Given the description of an element on the screen output the (x, y) to click on. 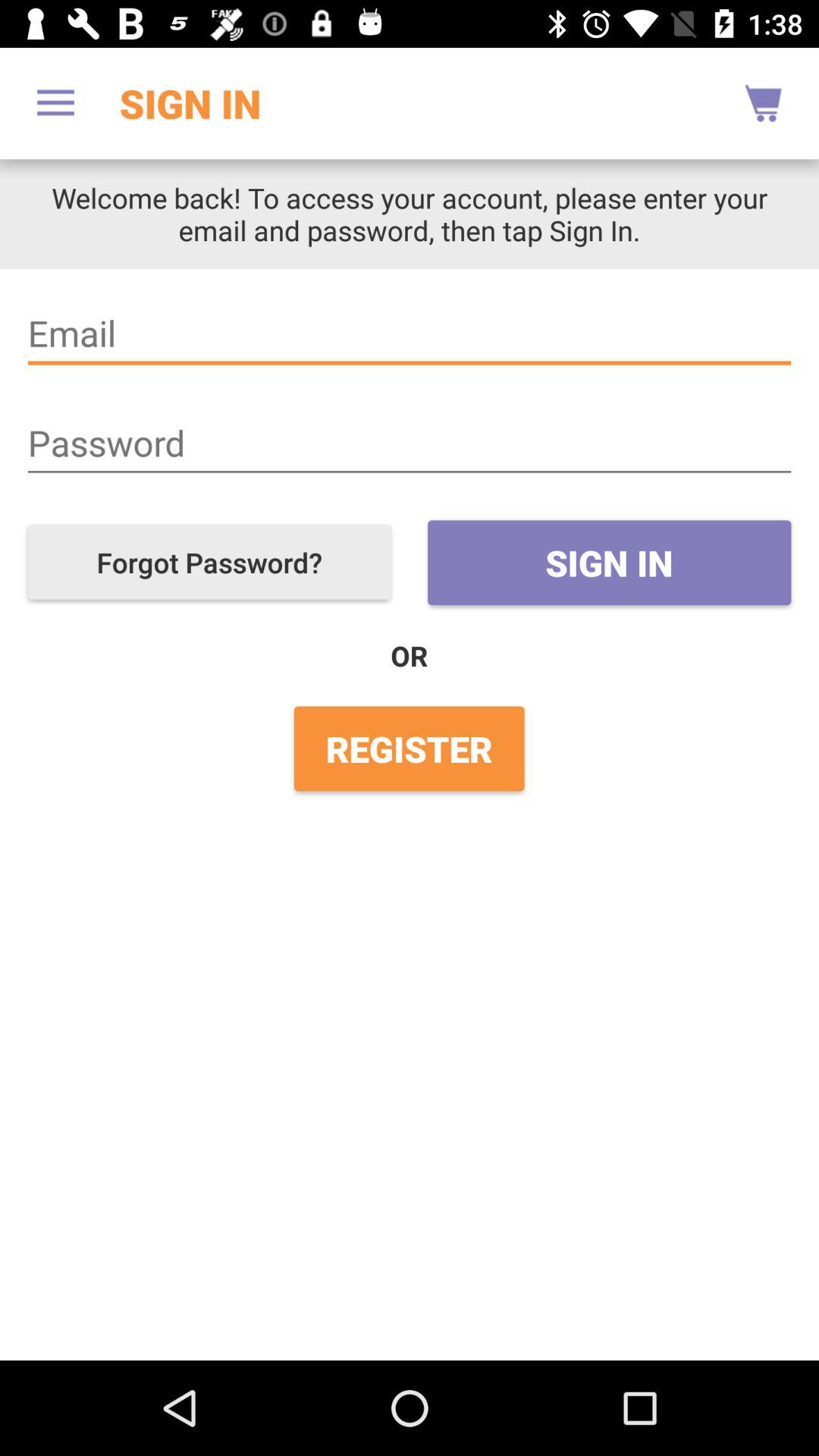
turn off the icon above sign in item (409, 443)
